Given the description of an element on the screen output the (x, y) to click on. 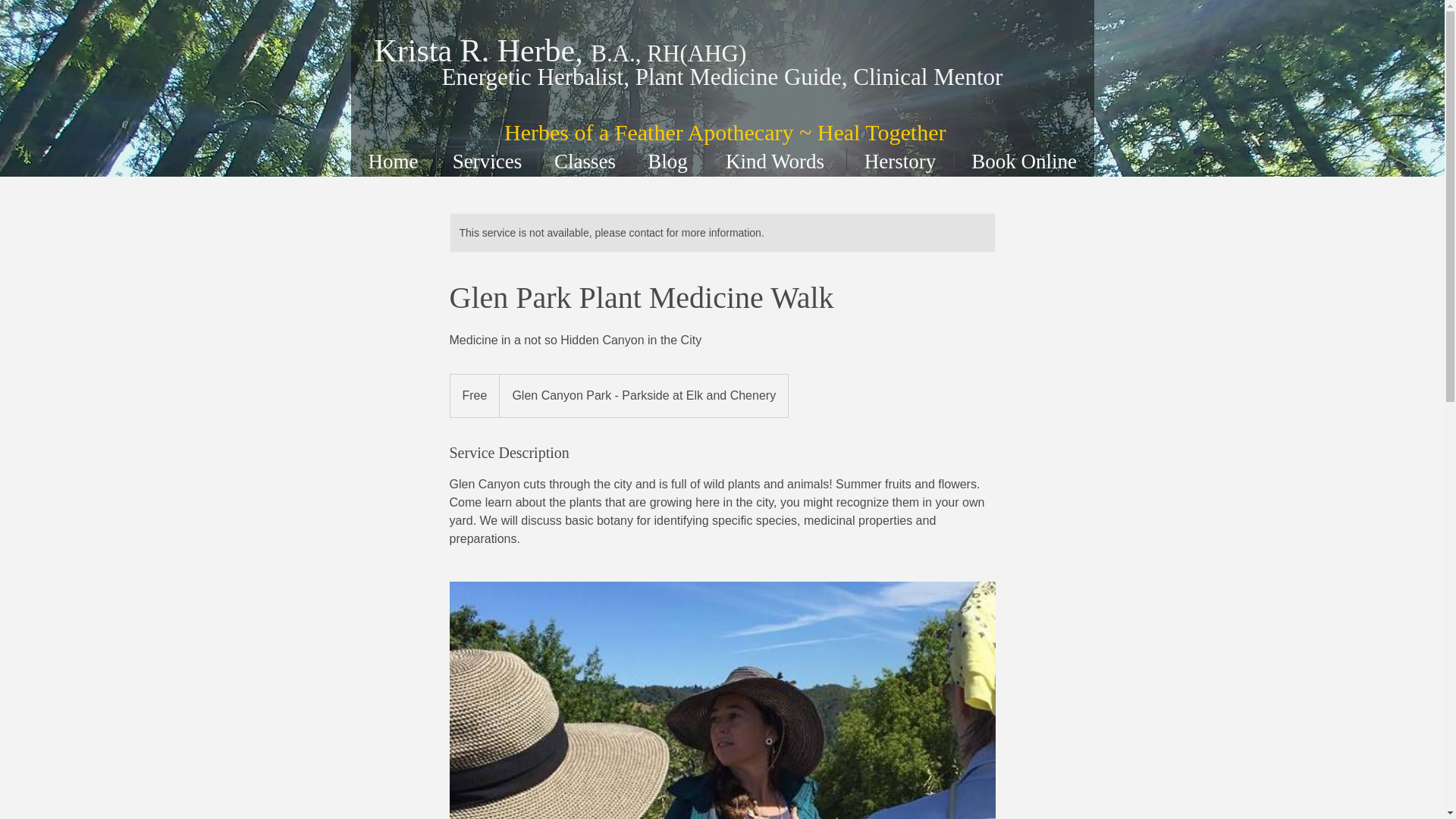
Kind Words (774, 159)
Classes (584, 159)
Herstory (899, 159)
Home (392, 159)
Book Online (1023, 159)
Blog (667, 159)
Services (487, 159)
